Given the description of an element on the screen output the (x, y) to click on. 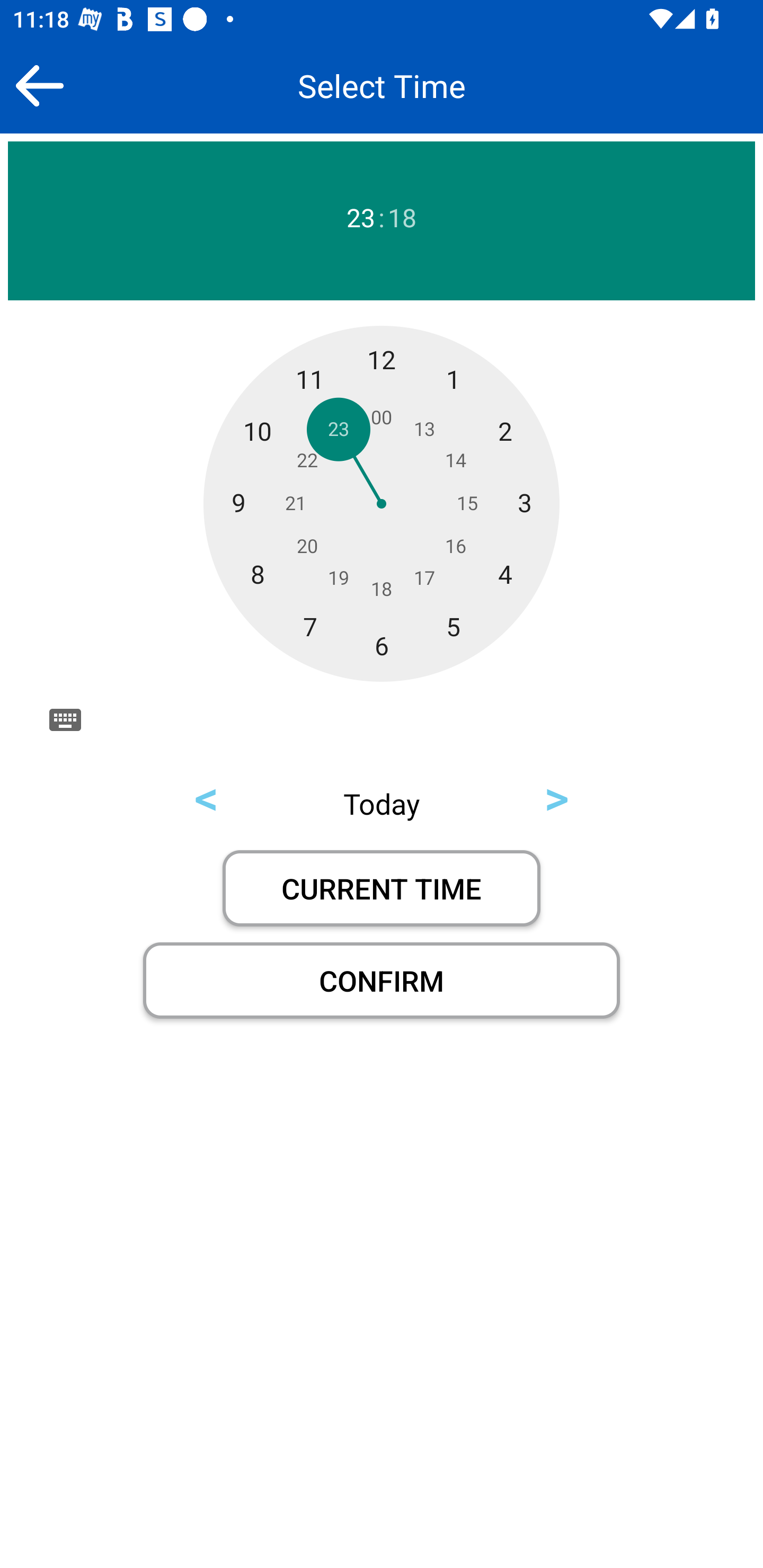
Back (39, 85)
23 (360, 217)
18 (401, 217)
Switch to text input mode for the time input. (64, 719)
< Previous day (206, 795)
> next day (555, 795)
CURRENT TIME (381, 887)
CONFIRM (381, 980)
